Given the description of an element on the screen output the (x, y) to click on. 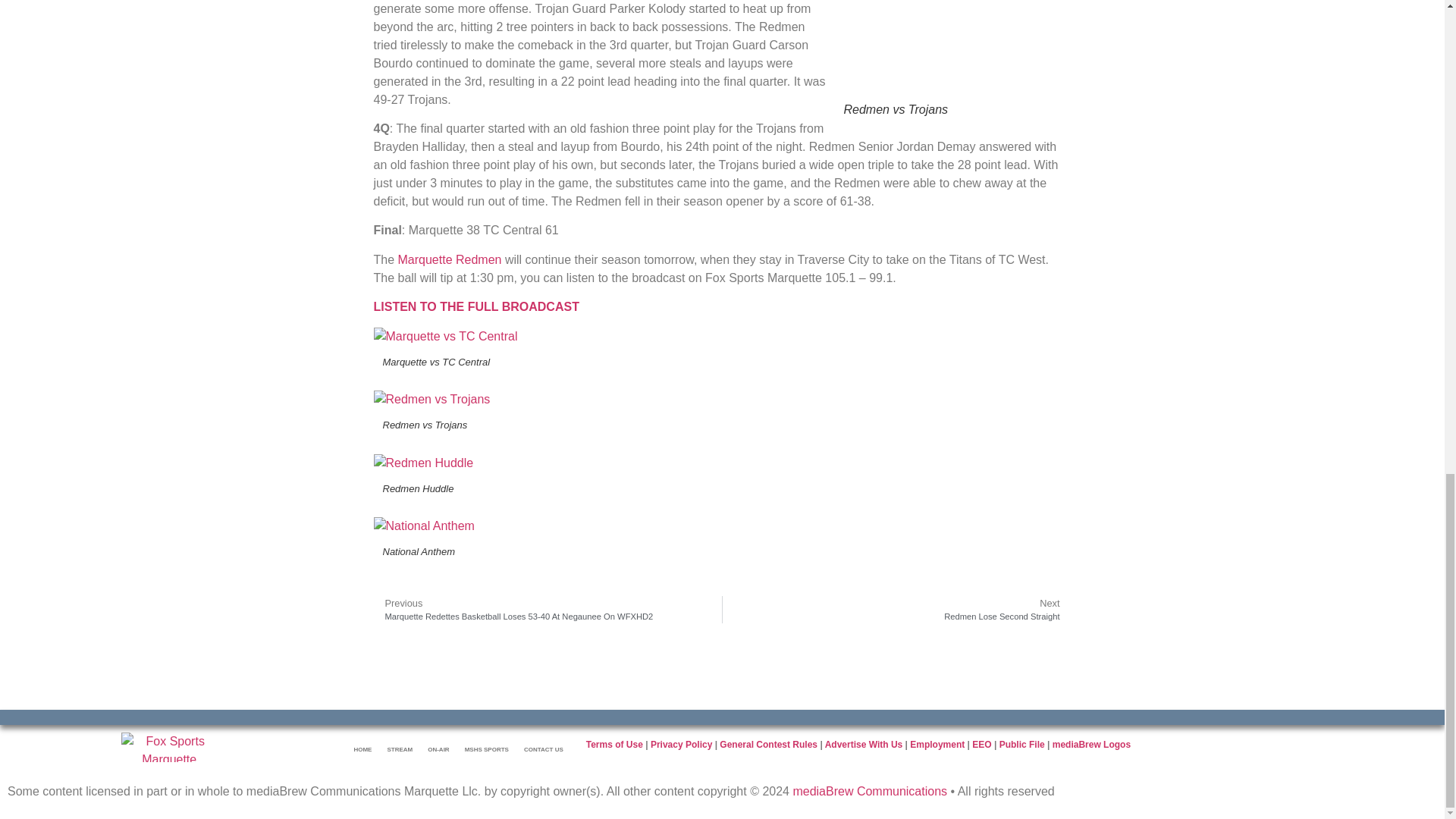
LISTEN TO THE FULL BROADCAST (475, 306)
mediaBrew Terms of Use (614, 744)
mediaBrew Communications Privacy Policy (680, 744)
Advertise with mediaBrew Communications (863, 744)
mediaBrew Logo Pack (1091, 744)
mediaBrew EEO (981, 744)
mediaBrew General Contest Rules (767, 744)
Marquette Redmen (449, 259)
mediaBrew Communications Public File (896, 609)
mediaBrew Employment (1021, 744)
